Given the description of an element on the screen output the (x, y) to click on. 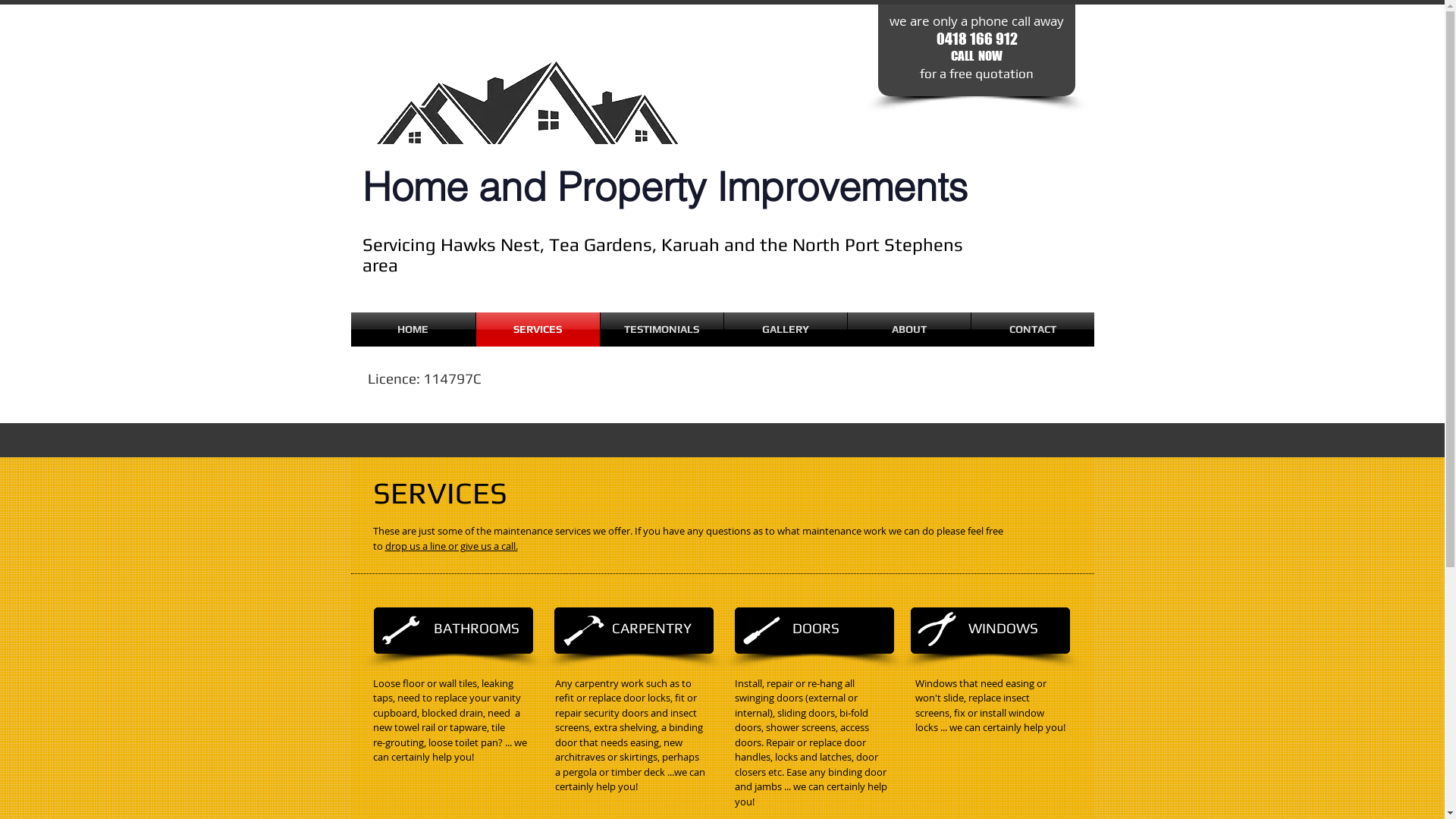
ABOUT Element type: text (908, 329)
drop us a line or give us a call. Element type: text (451, 545)
Home and Property Improvements Element type: text (664, 180)
CONTACT Element type: text (1031, 329)
TESTIMONIALS Element type: text (661, 329)
Licence: 114797C Element type: text (423, 378)
SERVICES Element type: text (537, 329)
GALLERY Element type: text (784, 329)
HOME Element type: text (412, 329)
